Given the description of an element on the screen output the (x, y) to click on. 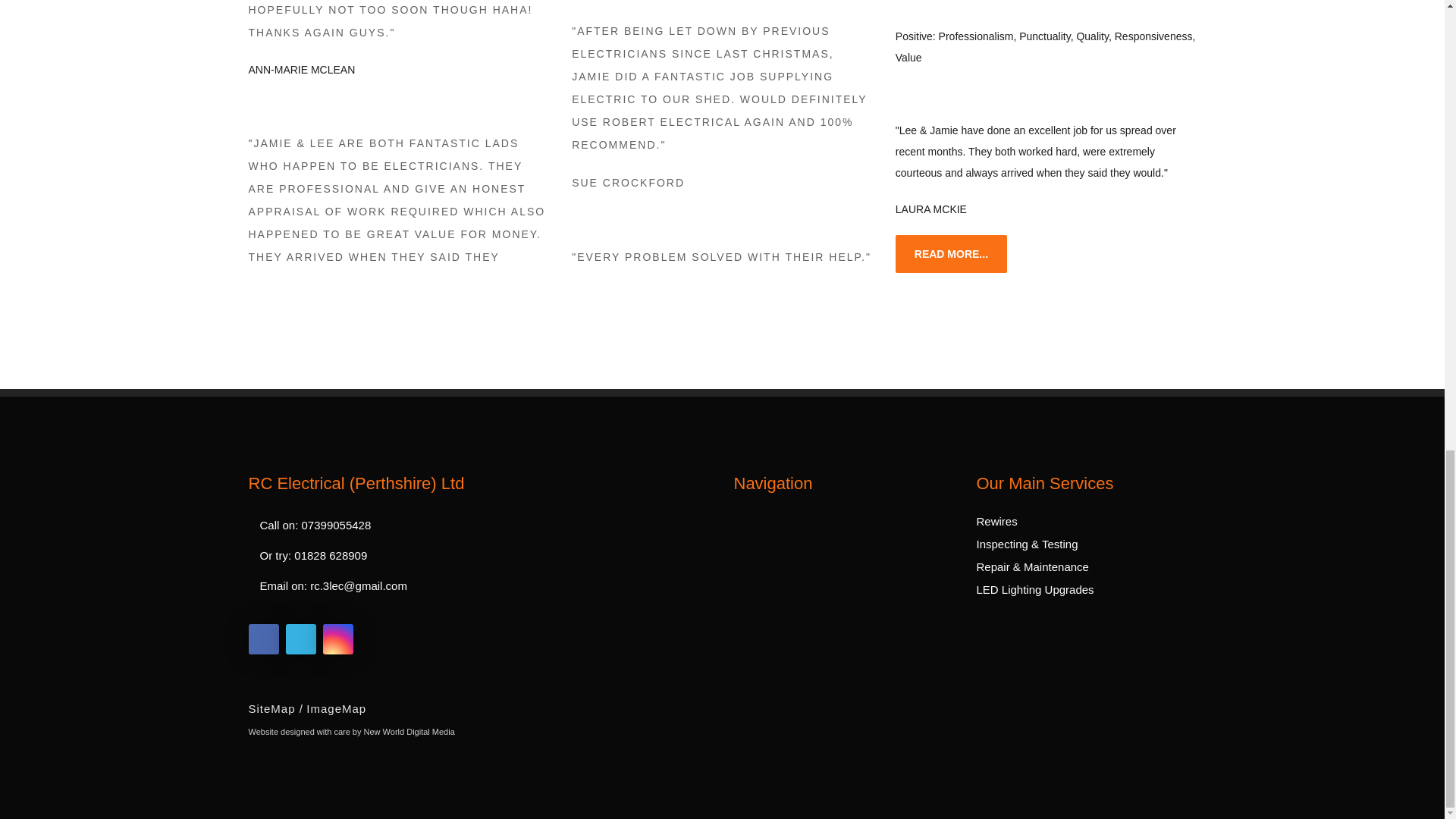
SiteMap (275, 708)
ImageMap (335, 708)
Call on: 07399055428 (468, 525)
Rewires (996, 521)
Or try: 01828 628909 (468, 555)
LED Lighting Upgrades (1035, 589)
READ MORE... (951, 253)
